Given the description of an element on the screen output the (x, y) to click on. 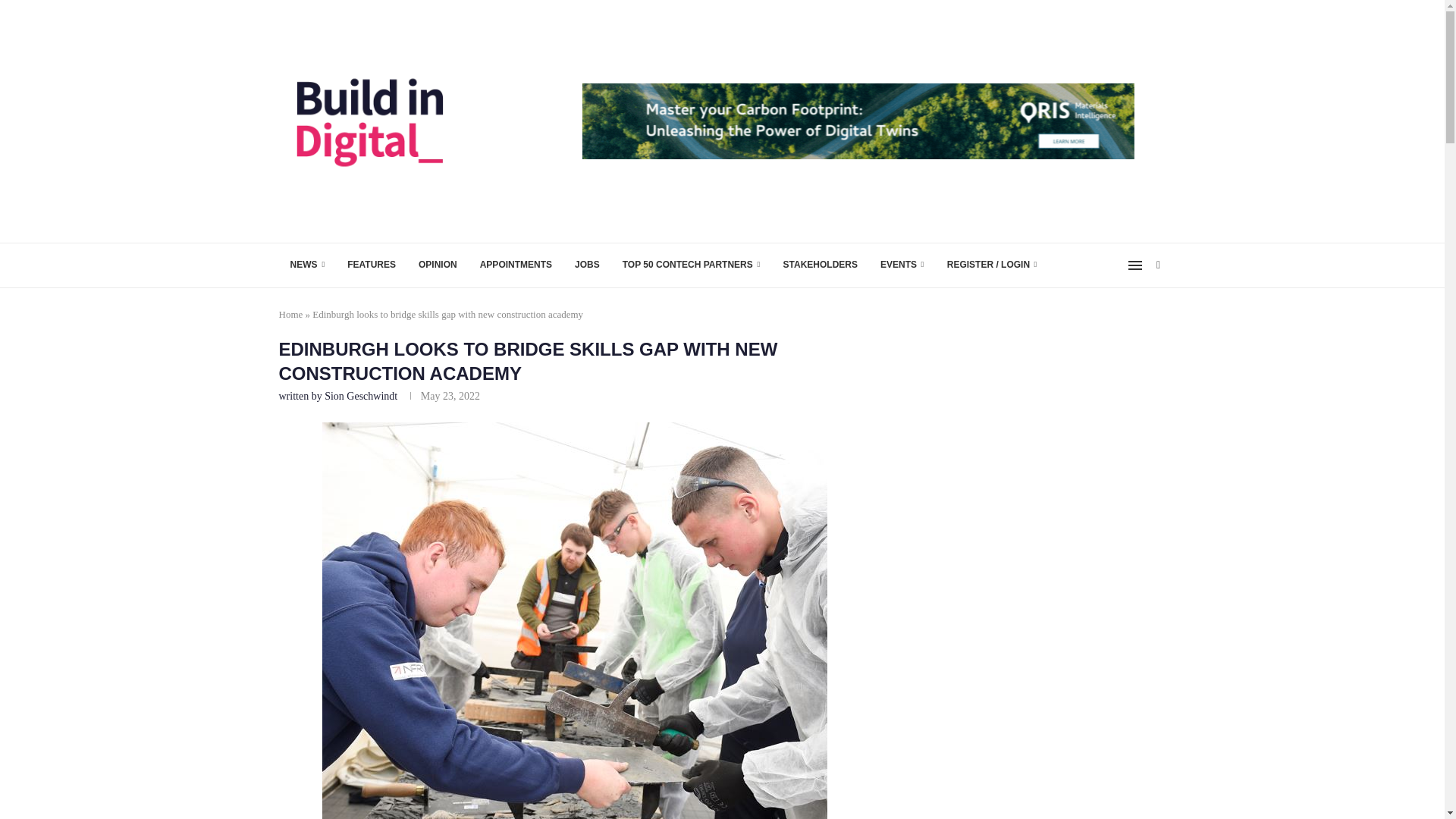
Home (290, 314)
Sion Geschwindt (360, 396)
EVENTS (902, 265)
NEWS (307, 265)
TOP 50 CONTECH PARTNERS (691, 265)
STAKEHOLDERS (820, 265)
OPINION (437, 265)
FEATURES (371, 265)
JOBS (587, 265)
APPOINTMENTS (515, 265)
